Given the description of an element on the screen output the (x, y) to click on. 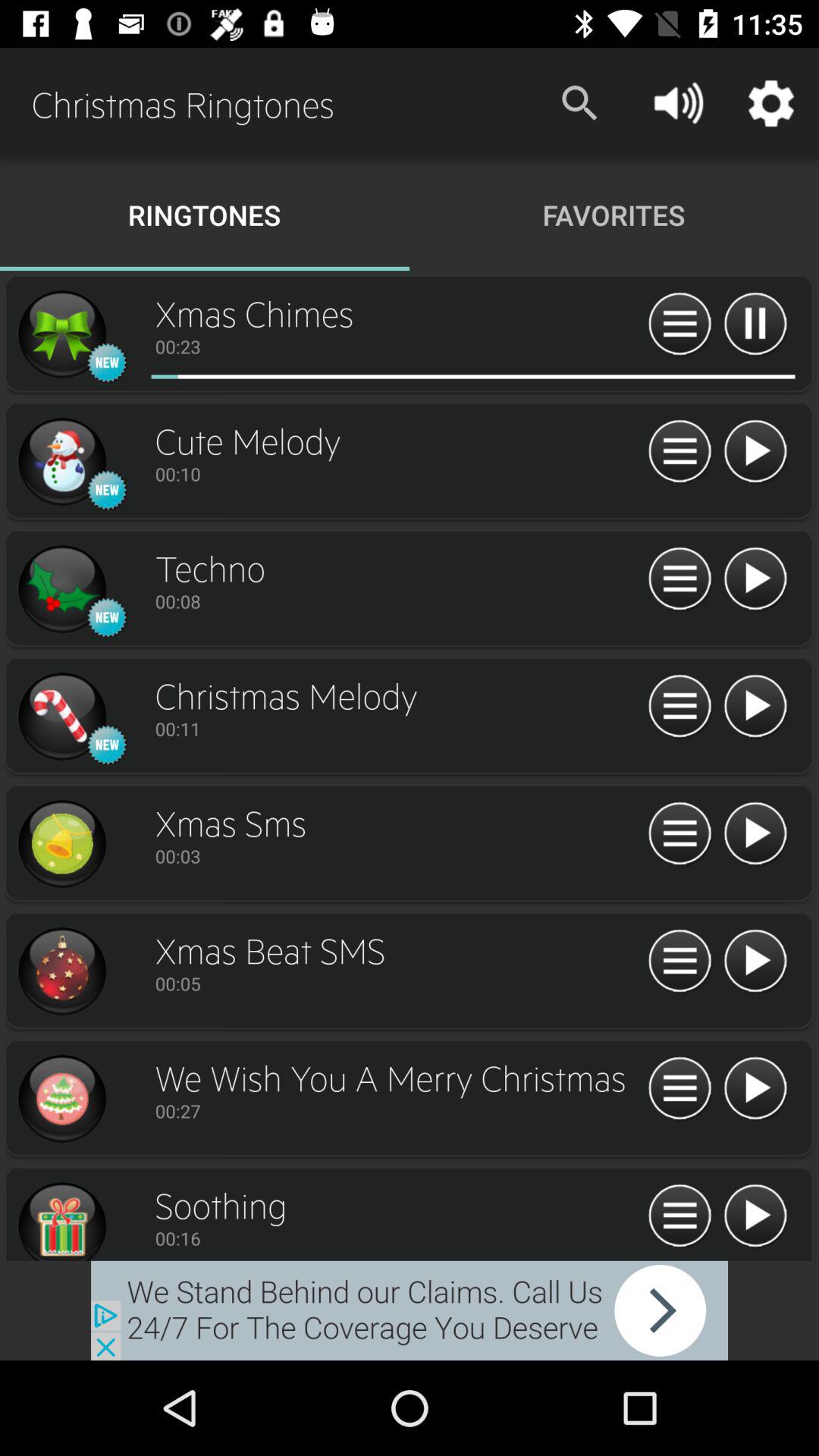
see features (679, 706)
